Given the description of an element on the screen output the (x, y) to click on. 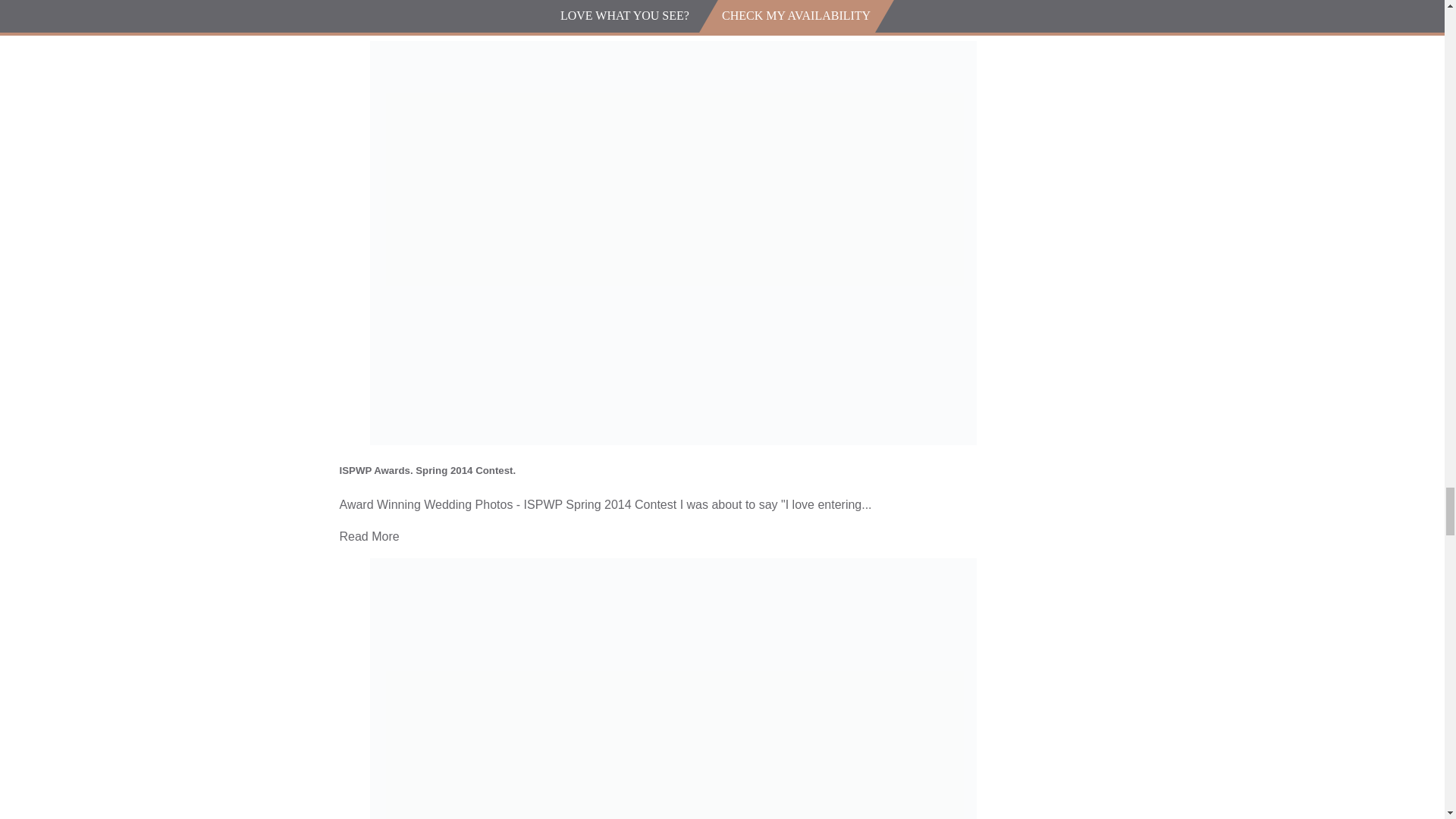
Read More (368, 19)
ISPWP Awards. Spring 2014 Contest. (427, 470)
Read More (368, 535)
